Given the description of an element on the screen output the (x, y) to click on. 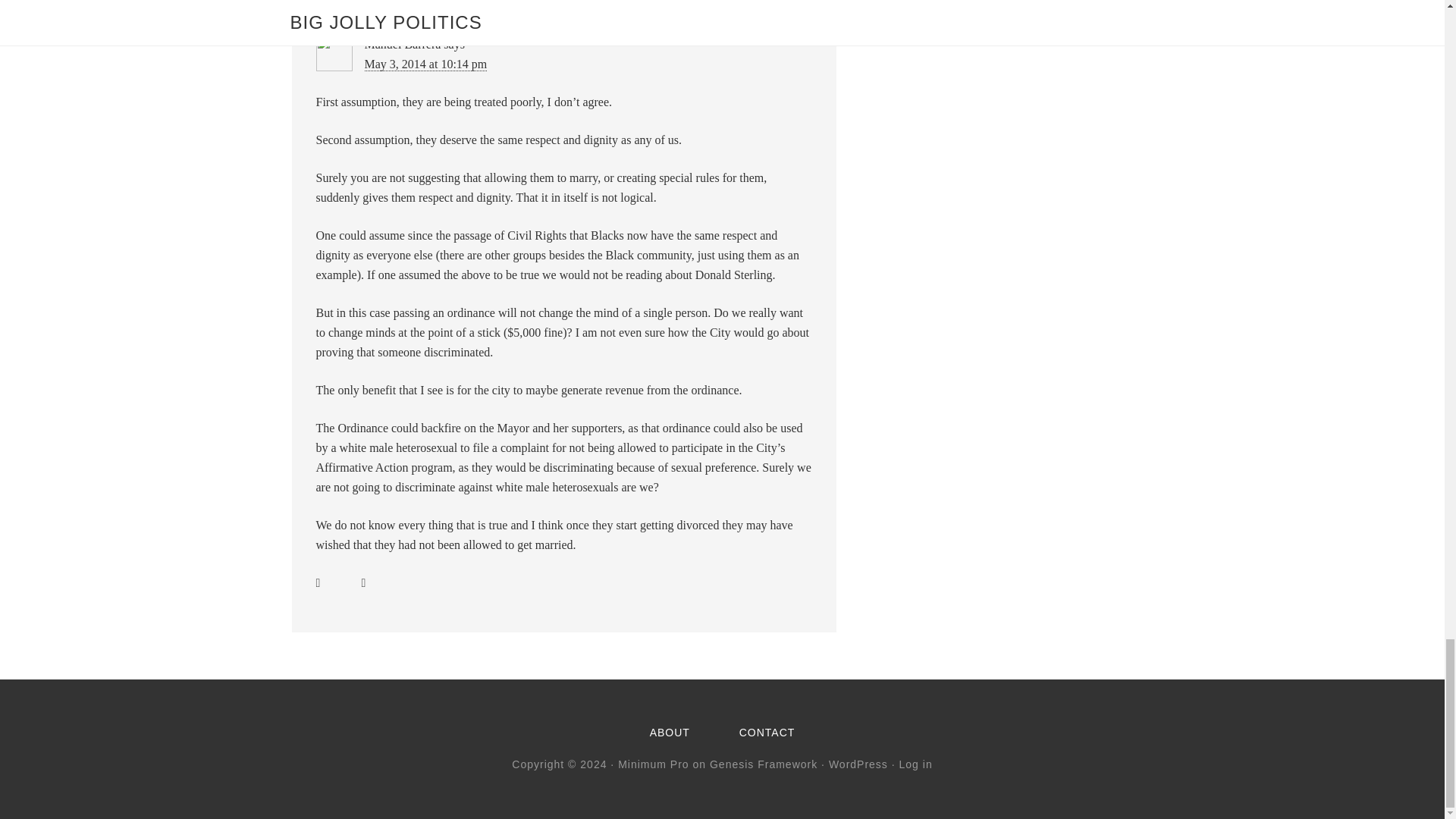
May 3, 2014 at 10:14 pm (425, 64)
